Given the description of an element on the screen output the (x, y) to click on. 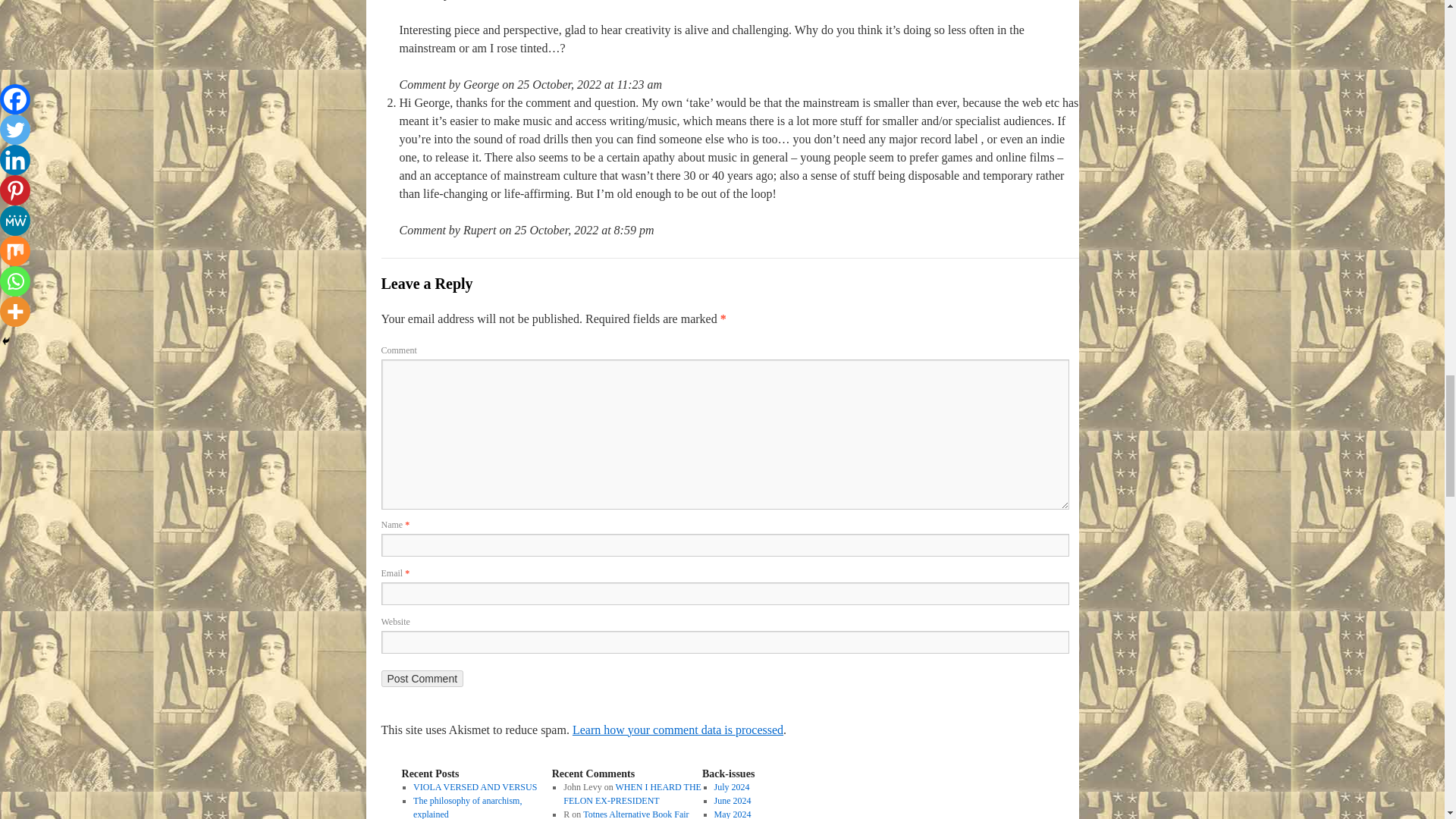
Post Comment (421, 678)
